Given the description of an element on the screen output the (x, y) to click on. 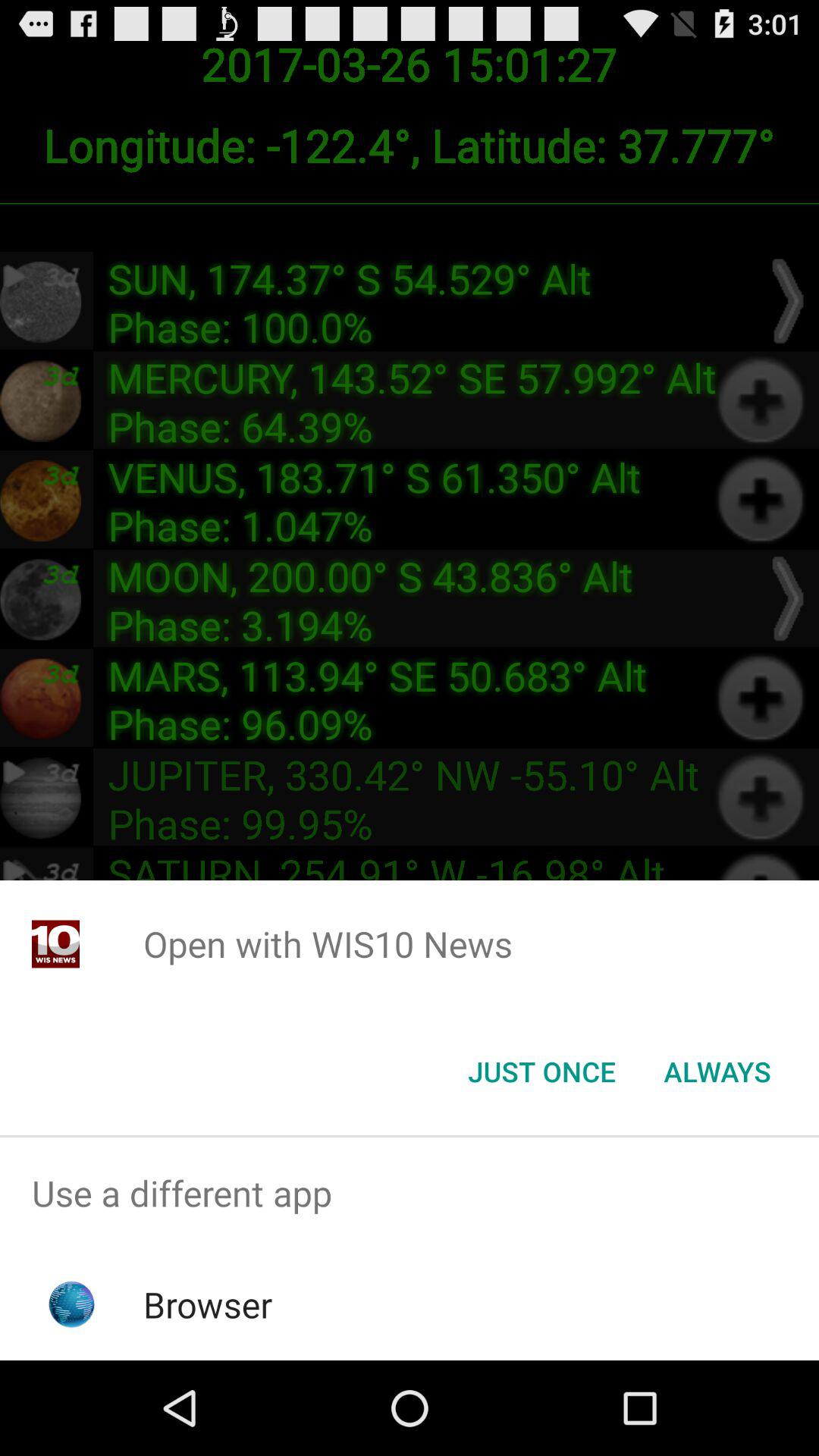
open button to the left of the always button (541, 1071)
